Given the description of an element on the screen output the (x, y) to click on. 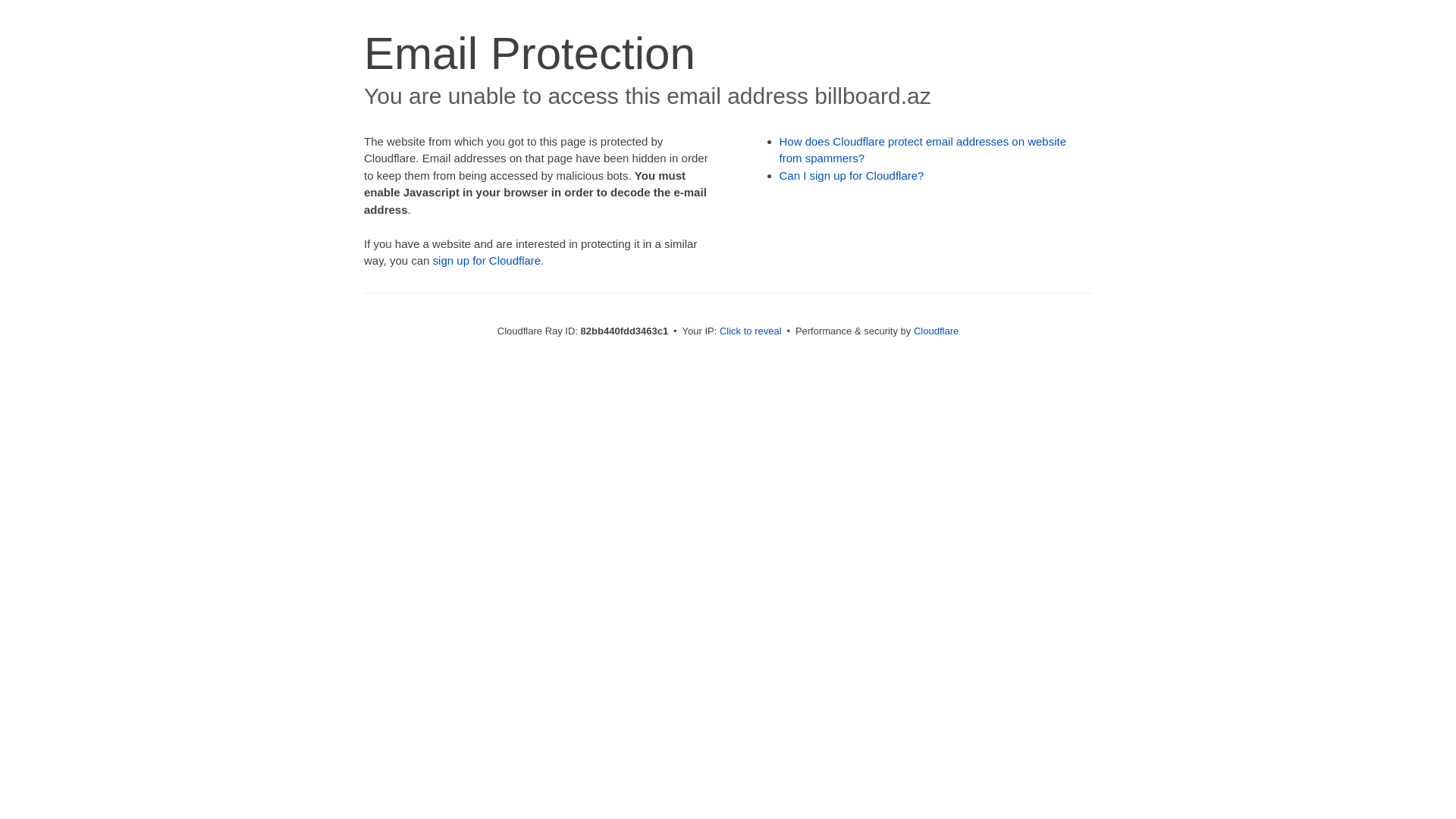
Click to reveal Element type: text (750, 330)
Cloudflare Element type: text (935, 330)
sign up for Cloudflare Element type: text (487, 260)
Can I sign up for Cloudflare? Element type: text (851, 175)
